Given the description of an element on the screen output the (x, y) to click on. 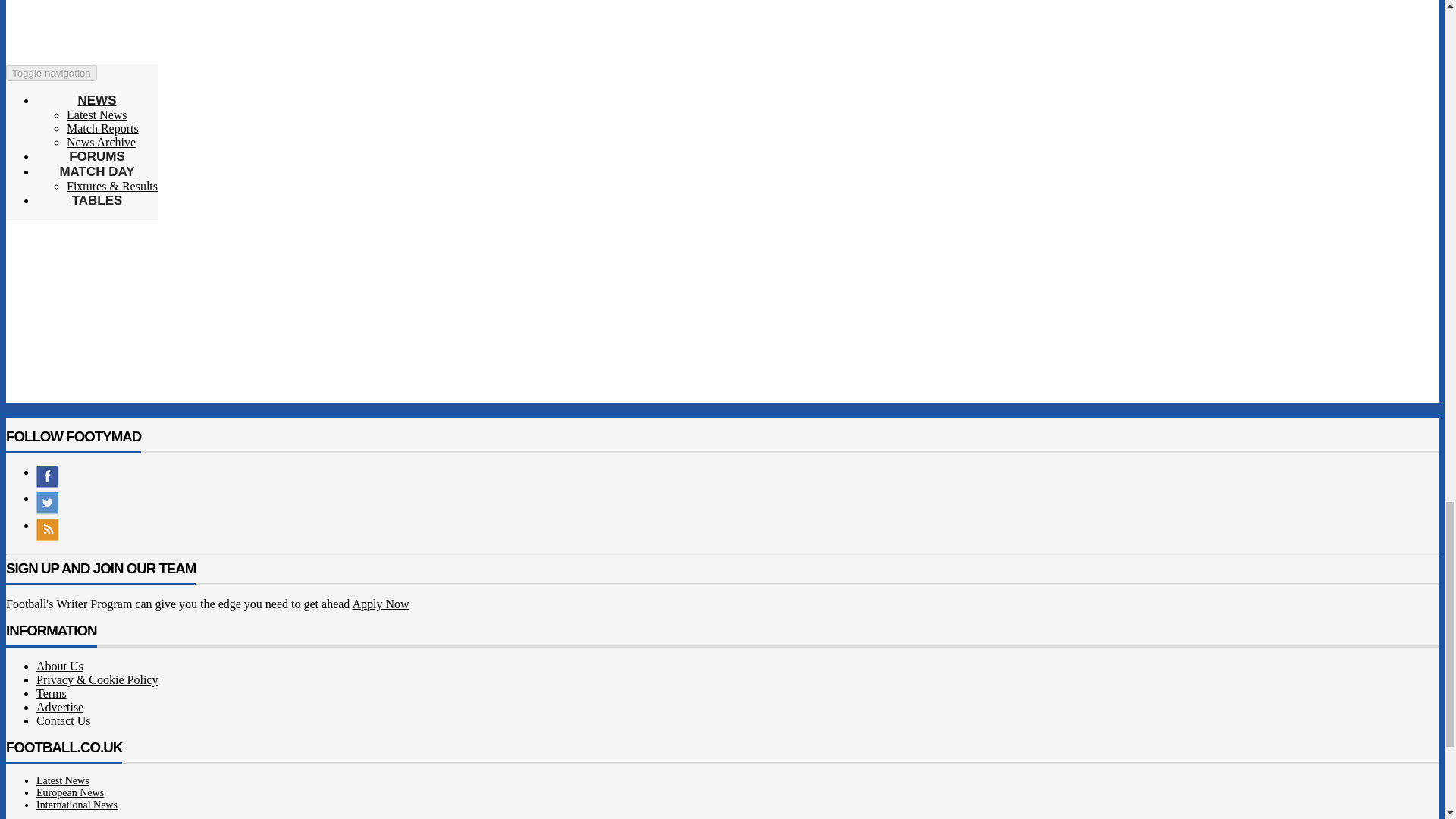
Advertise on footymad.net (59, 707)
Contact us (63, 720)
About us (59, 666)
footymad.net Terms and Conditions (51, 693)
